Given the description of an element on the screen output the (x, y) to click on. 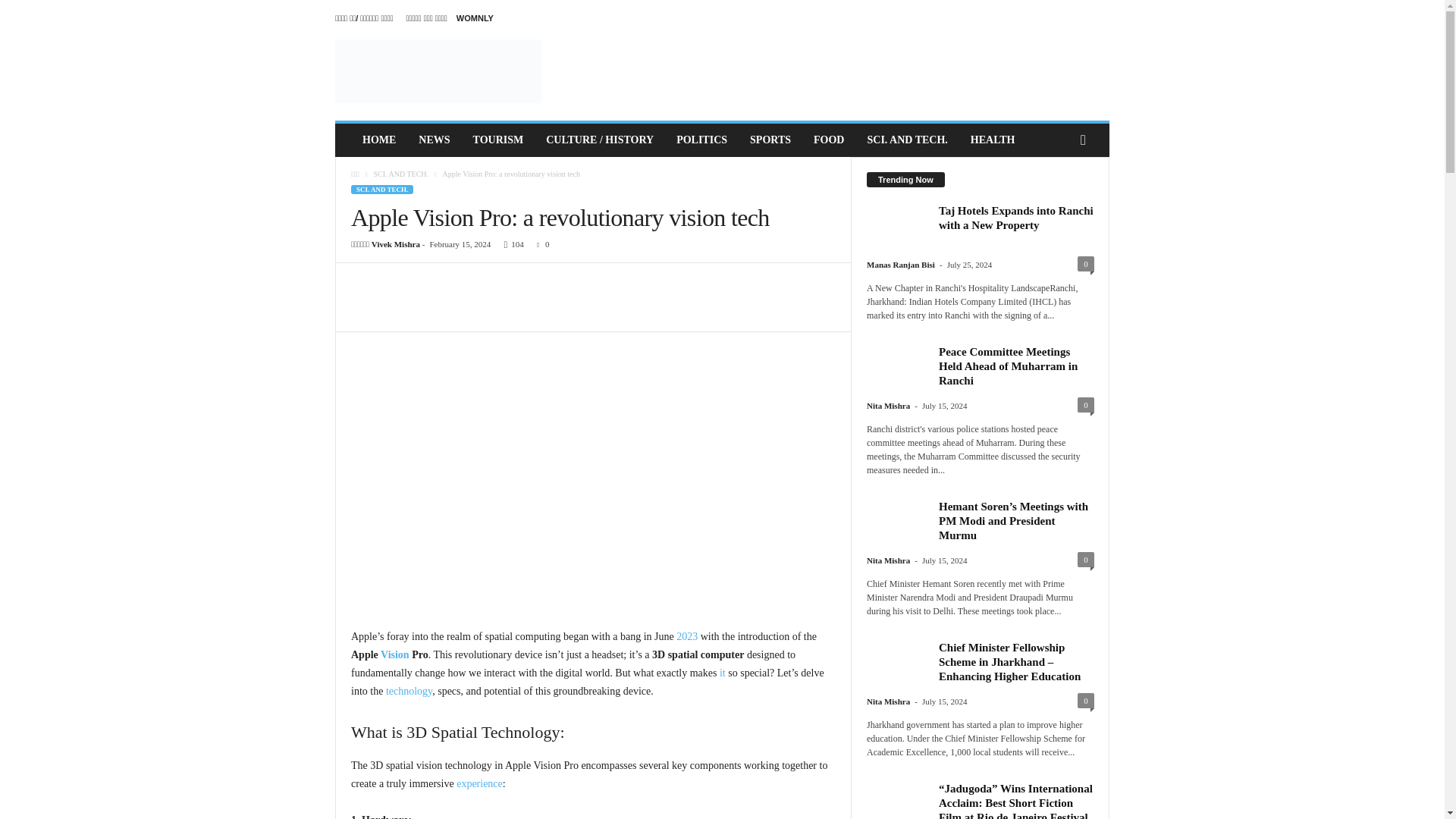
SPORTS (770, 140)
Vivek Mishra (395, 243)
FOOD (829, 140)
0 (540, 243)
HEALTH (992, 140)
NEWS (434, 140)
TOURISM (498, 140)
SCI. AND TECH. (381, 189)
SCI. AND TECH. (907, 140)
WOMNLY (475, 17)
